Given the description of an element on the screen output the (x, y) to click on. 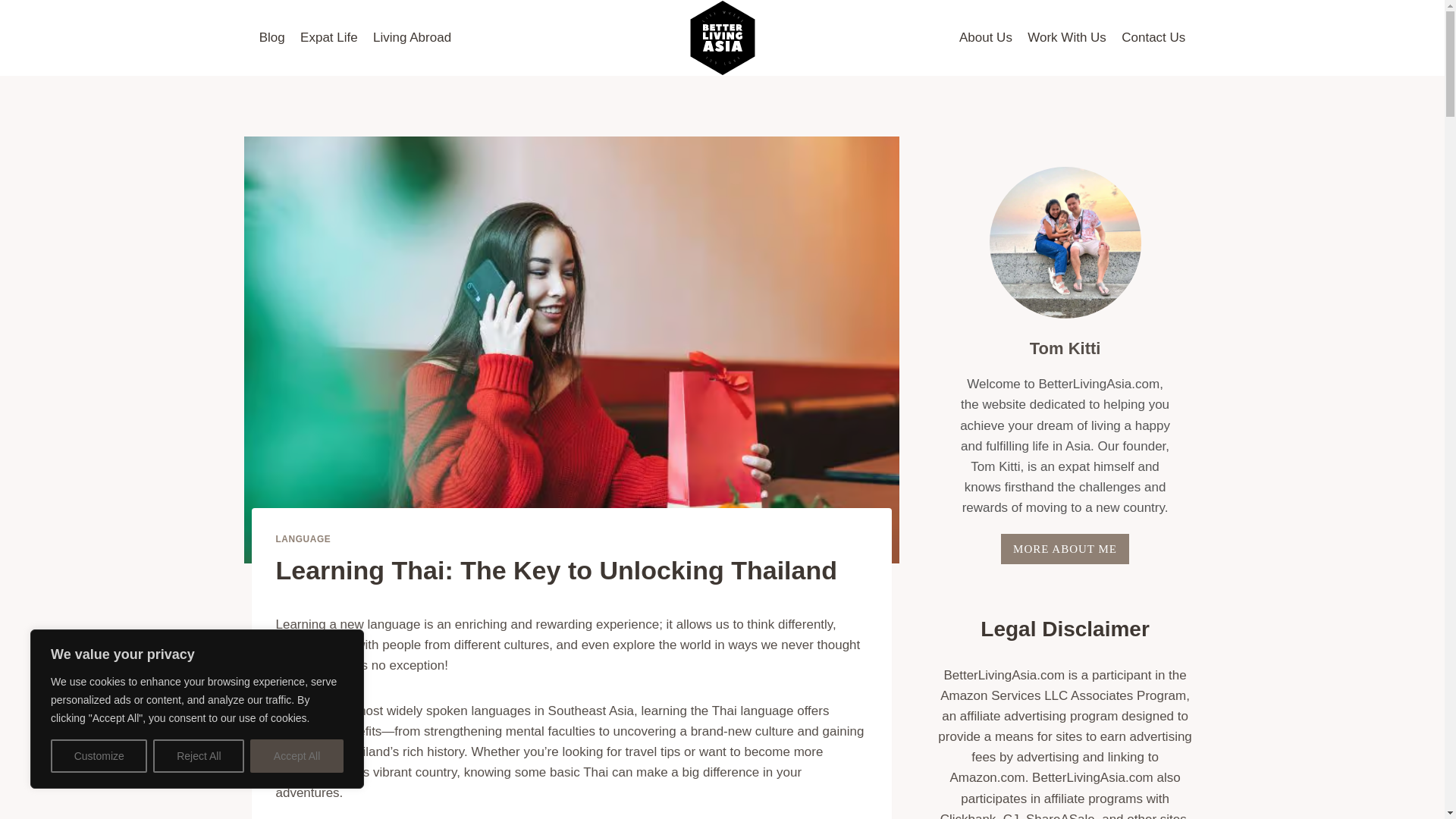
Work With Us (1066, 37)
Contact Us (1152, 37)
Blog (271, 37)
Accept All (296, 756)
About Us (986, 37)
LANGUAGE (303, 538)
Reject All (198, 756)
Expat Life (328, 37)
Living Abroad (411, 37)
Customize (98, 756)
